Given the description of an element on the screen output the (x, y) to click on. 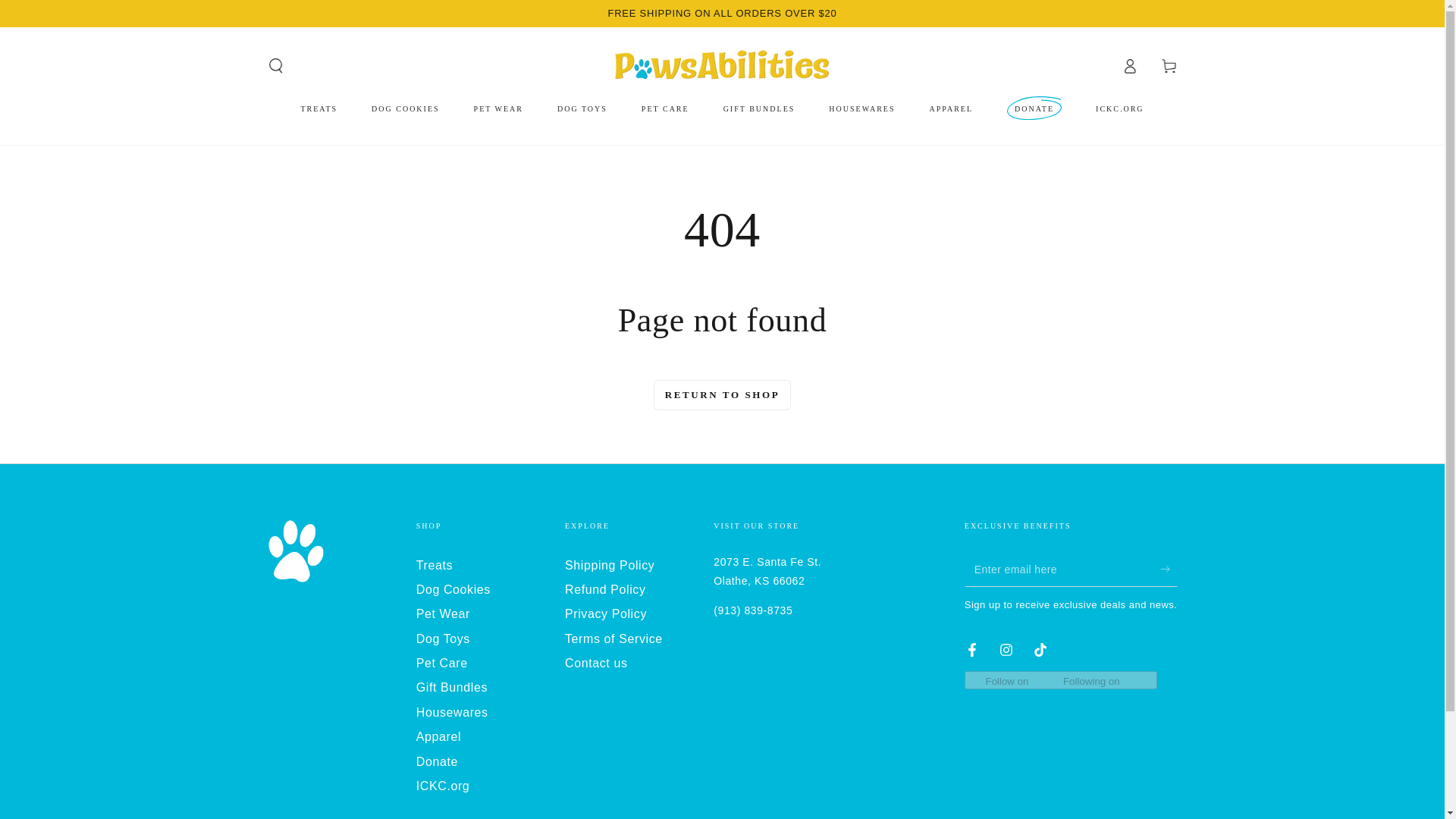
Treats (434, 563)
SKIP TO CONTENT (67, 14)
RETURN TO SHOP (722, 394)
Pet Wear (443, 613)
ICKC.ORG (1120, 108)
DOG COOKIES (405, 108)
PET CARE (665, 108)
DOG TOYS (582, 108)
HOUSEWARES (860, 108)
TREATS (318, 108)
DONATE (1034, 108)
APPAREL (951, 108)
GIFT BUNDLES (758, 108)
Gift Bundles (451, 686)
PET WEAR (498, 108)
